Given the description of an element on the screen output the (x, y) to click on. 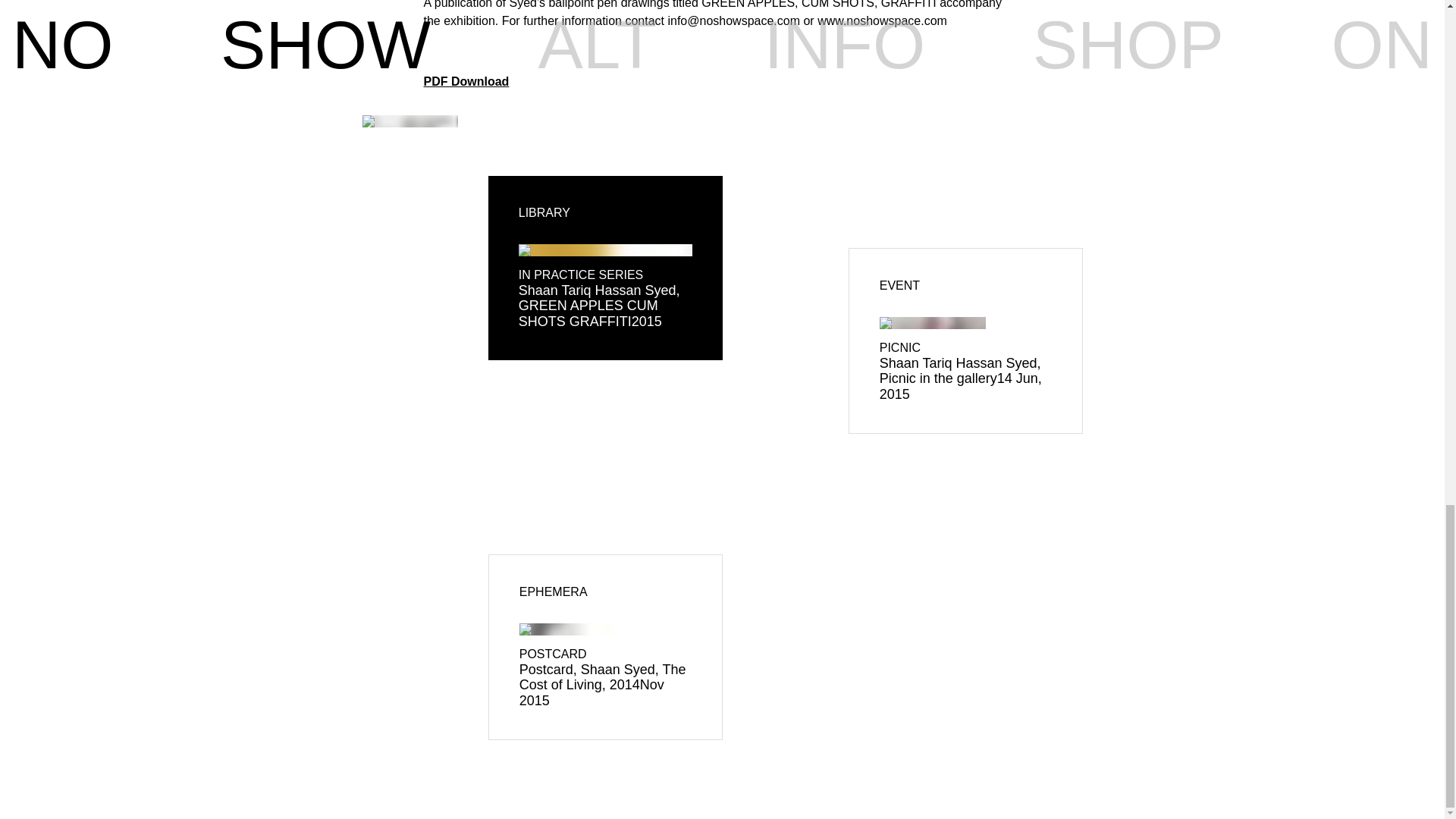
www.noshowspace.com (881, 20)
PDF Download (465, 81)
